Given the description of an element on the screen output the (x, y) to click on. 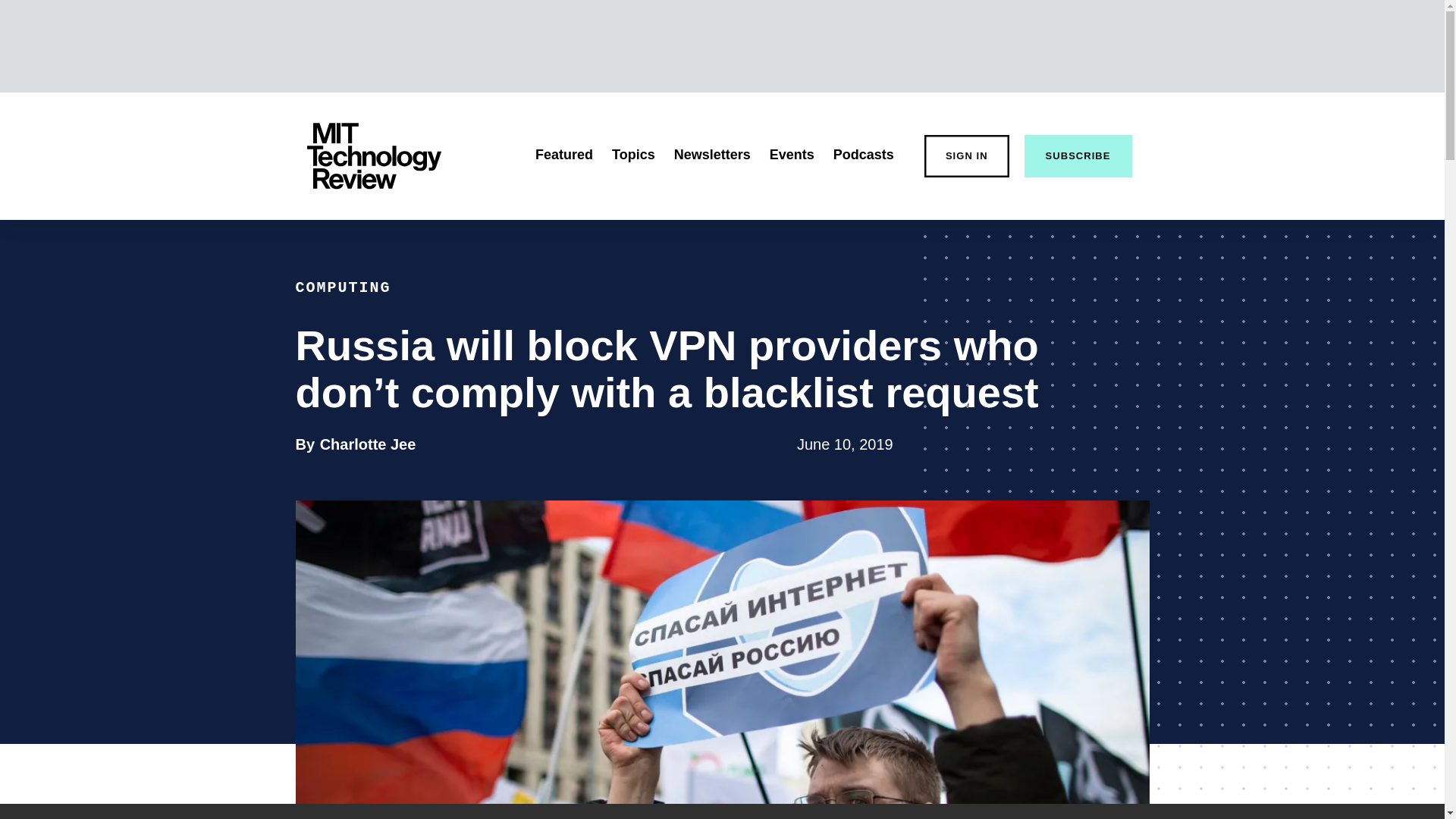
Events (791, 154)
SUBSCRIBE (1078, 156)
MIT Technology Review (373, 155)
SIGN IN (966, 156)
Featured (563, 154)
COMPUTING (343, 287)
Podcasts (368, 443)
Newsletters (862, 154)
Topics (712, 154)
